Given the description of an element on the screen output the (x, y) to click on. 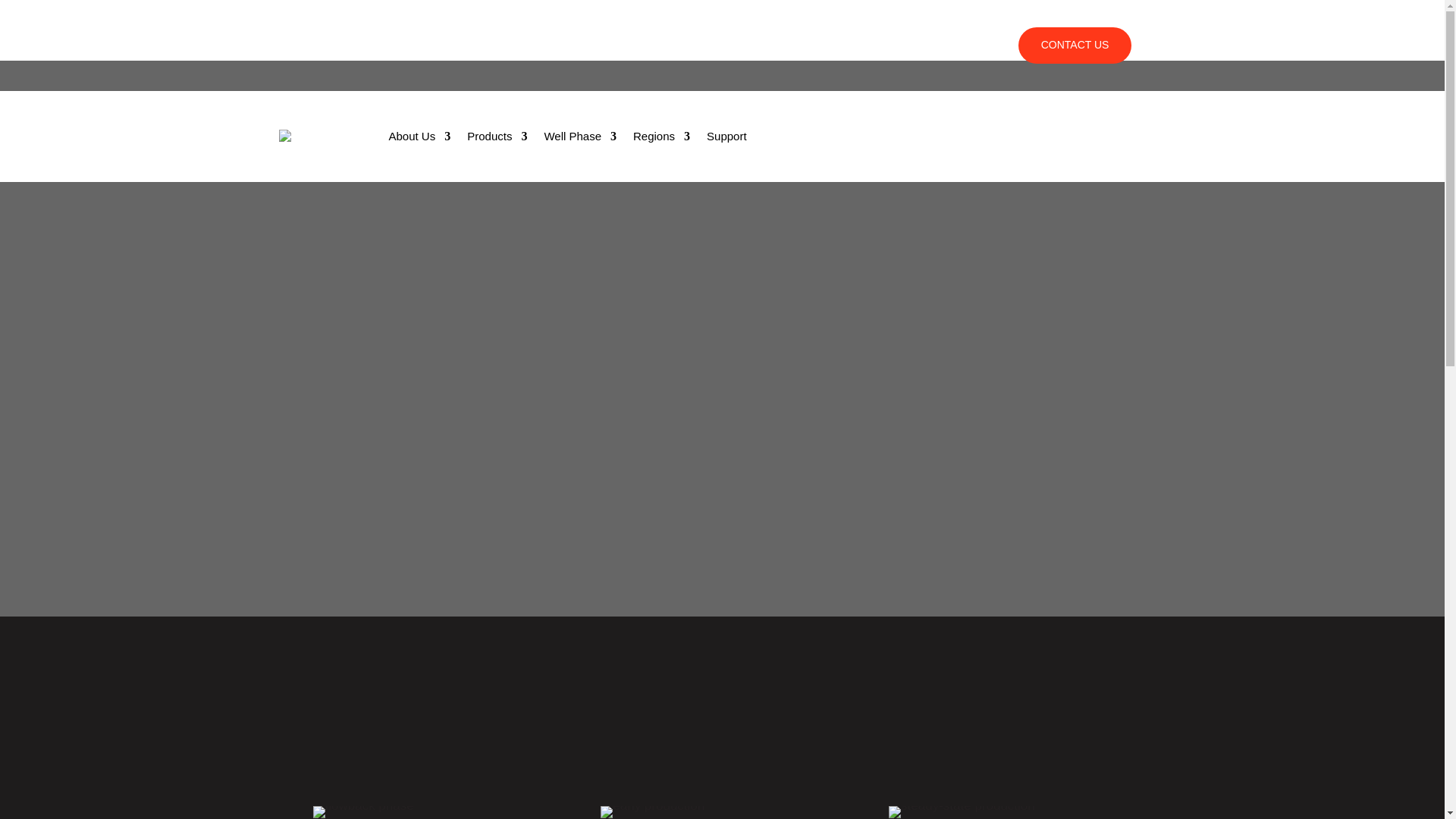
Well Phase (579, 136)
Regions (661, 136)
CONTACT US (1074, 45)
Well Phase (761, 45)
phase1 (363, 811)
phase2 (651, 811)
About Us (418, 136)
phase3 (961, 811)
Products (497, 136)
